Given the description of an element on the screen output the (x, y) to click on. 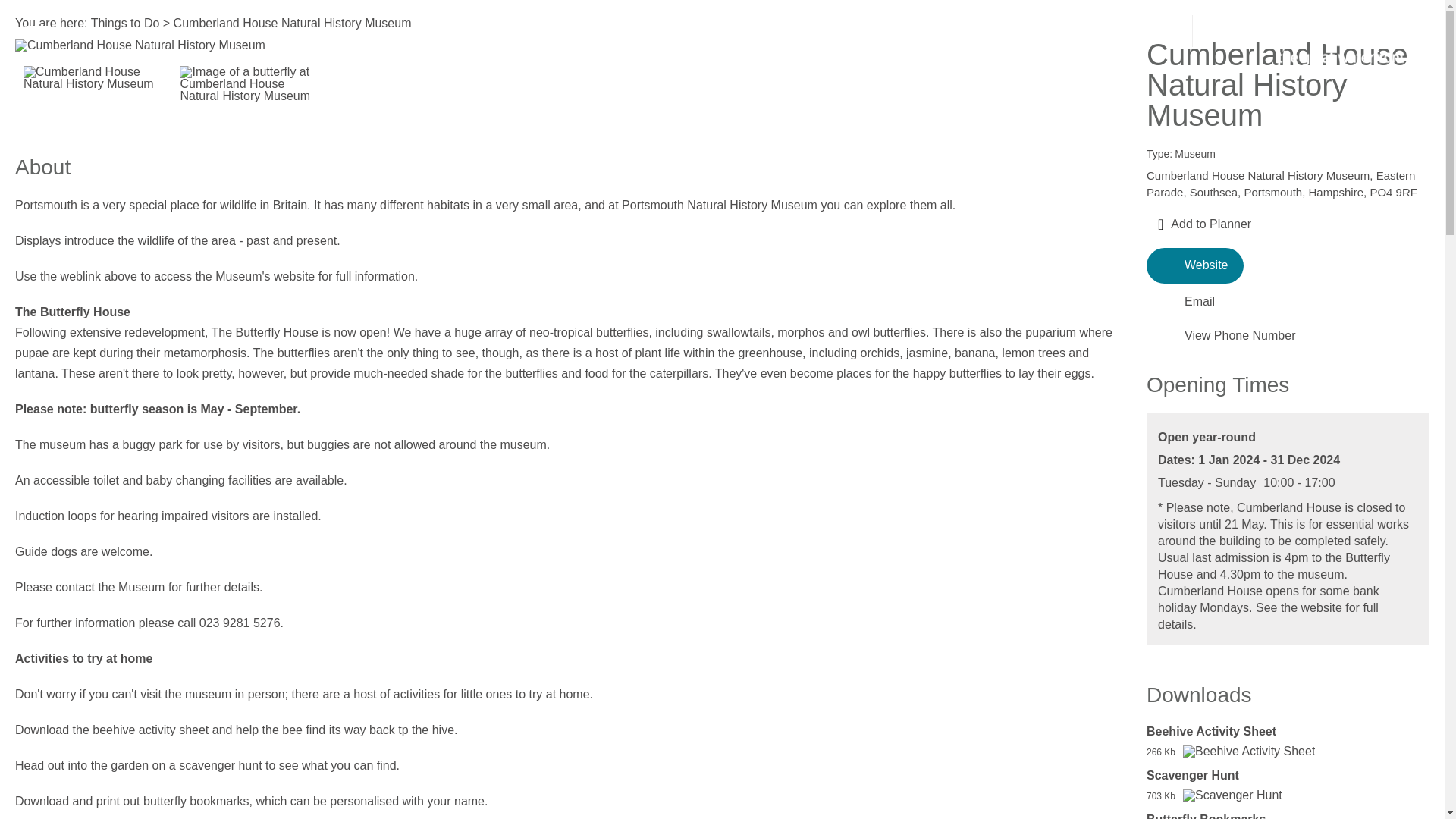
Visit Portsmouth Twitter (1091, 36)
Blog (980, 31)
What's On (261, 32)
Explore (98, 32)
Visit Portsmouth Instagram (1021, 36)
Visit Portsmouth Facebook (1056, 36)
Request our Brochure (1128, 36)
Things to Do (175, 32)
Things to Do (175, 32)
Sign up to Website Newsletter (1166, 34)
